Given the description of an element on the screen output the (x, y) to click on. 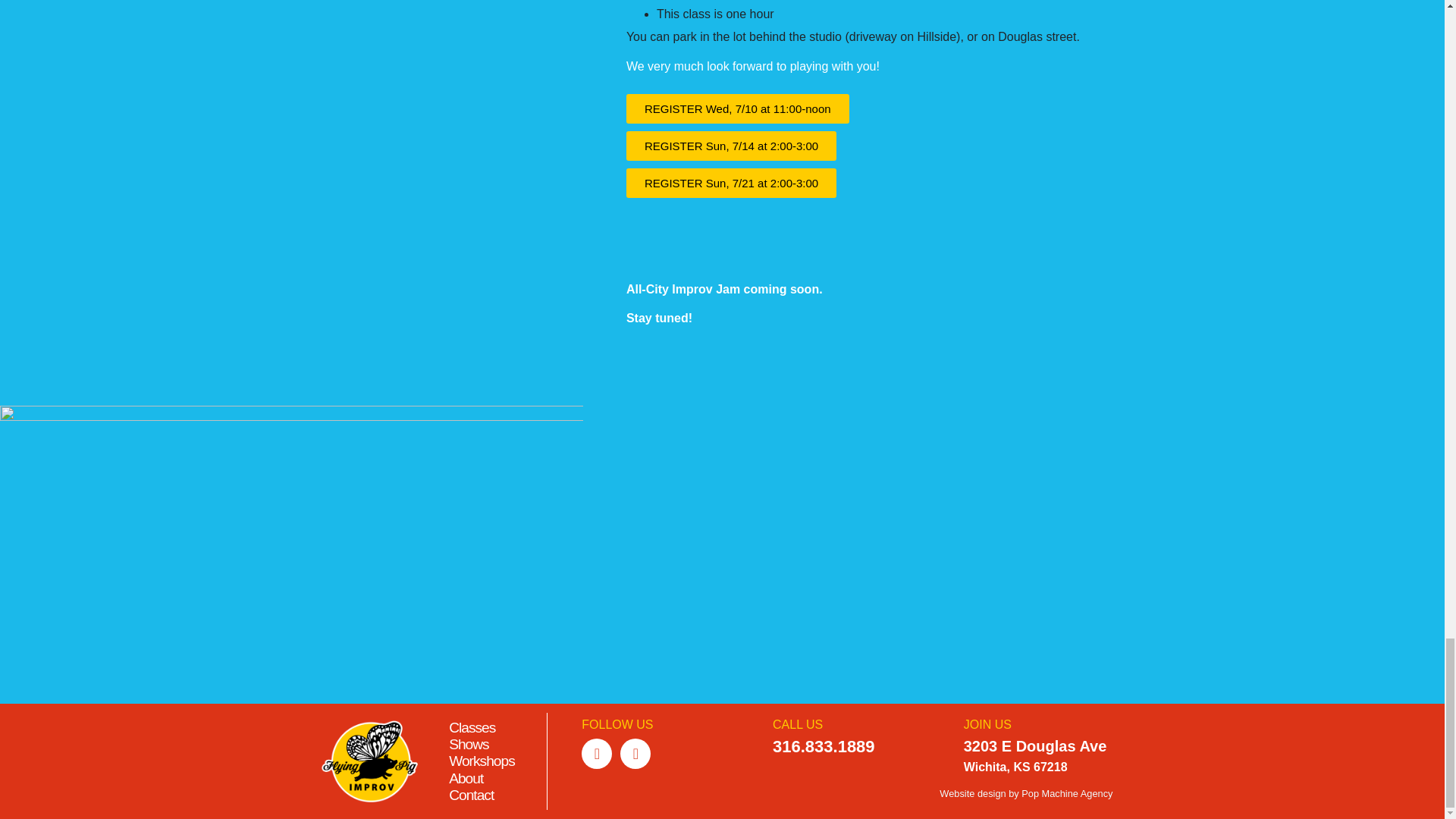
Shows (468, 744)
About (465, 778)
Workshops (481, 760)
Contact (470, 795)
Website design by Pop Machine Agency (1025, 793)
Classes (471, 727)
316.833.1889 (824, 746)
